Given the description of an element on the screen output the (x, y) to click on. 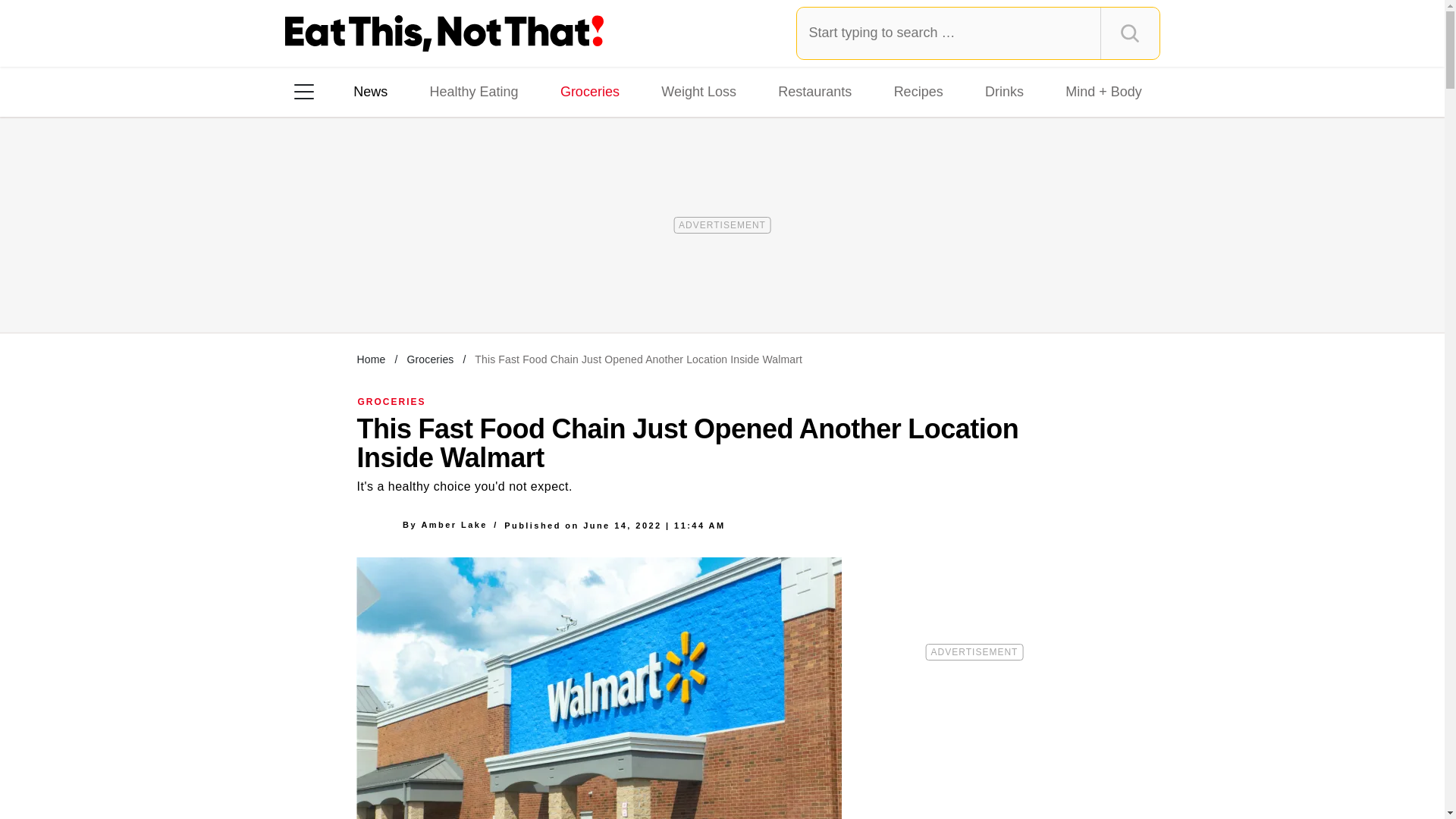
Groceries (590, 91)
Weight Loss (698, 91)
Instagram (357, 287)
Pinterest (443, 287)
Type and press Enter to search (978, 32)
TikTok (399, 287)
Instagram (357, 287)
Facebook (314, 287)
Facebook (314, 287)
Healthy Eating (473, 91)
